Given the description of an element on the screen output the (x, y) to click on. 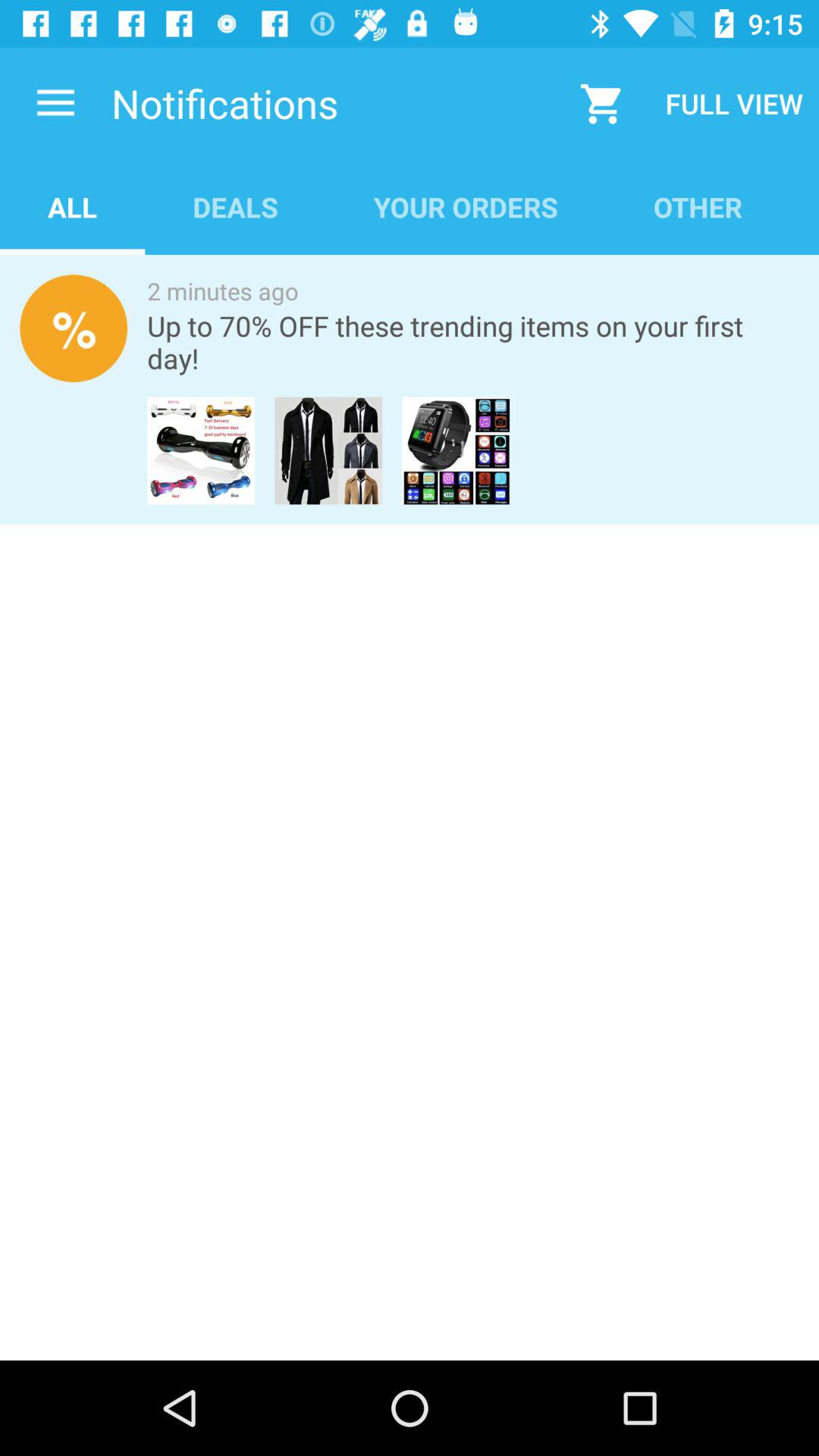
turn on the item above all icon (55, 103)
